Given the description of an element on the screen output the (x, y) to click on. 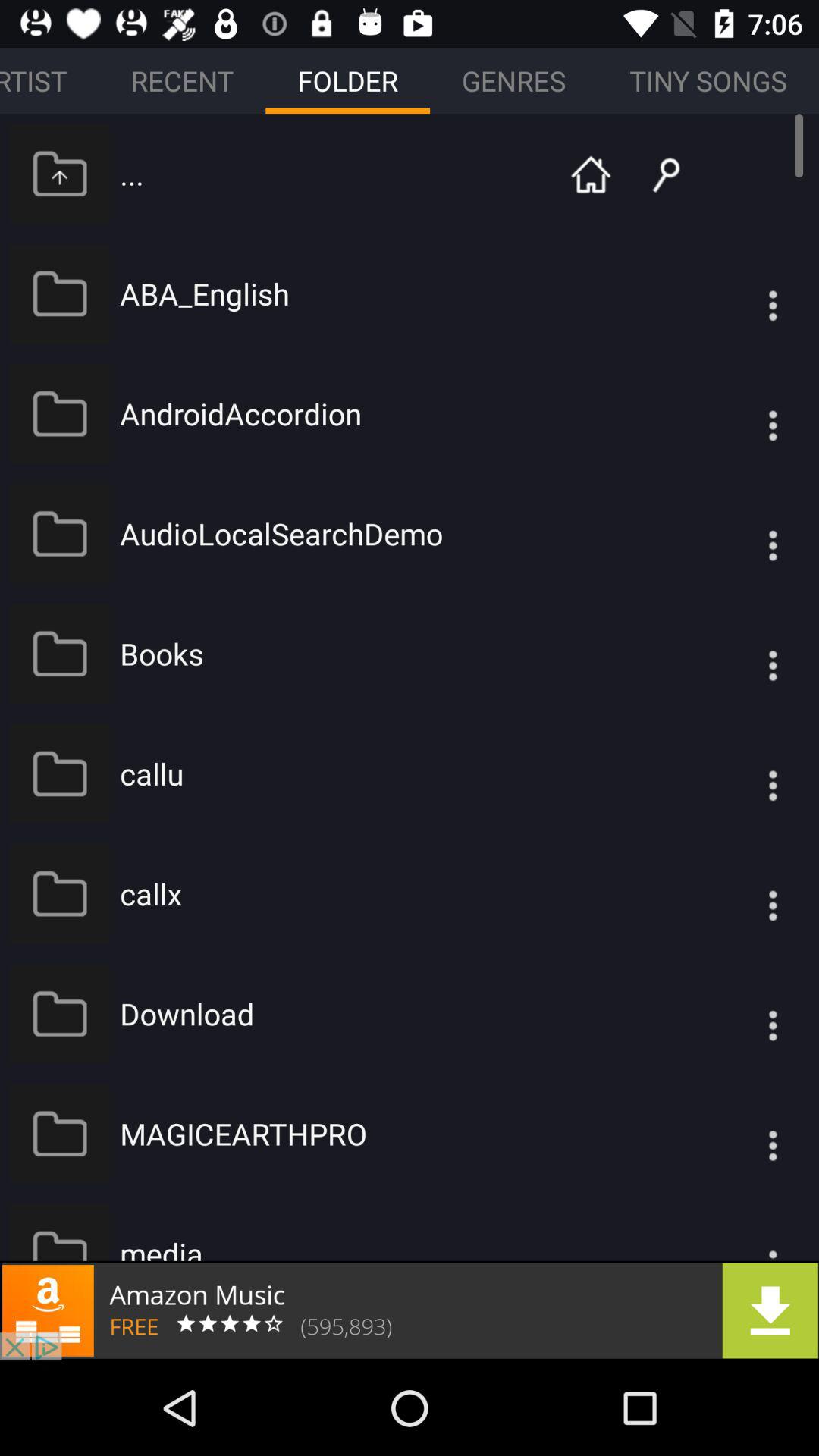
more choices (742, 653)
